Given the description of an element on the screen output the (x, y) to click on. 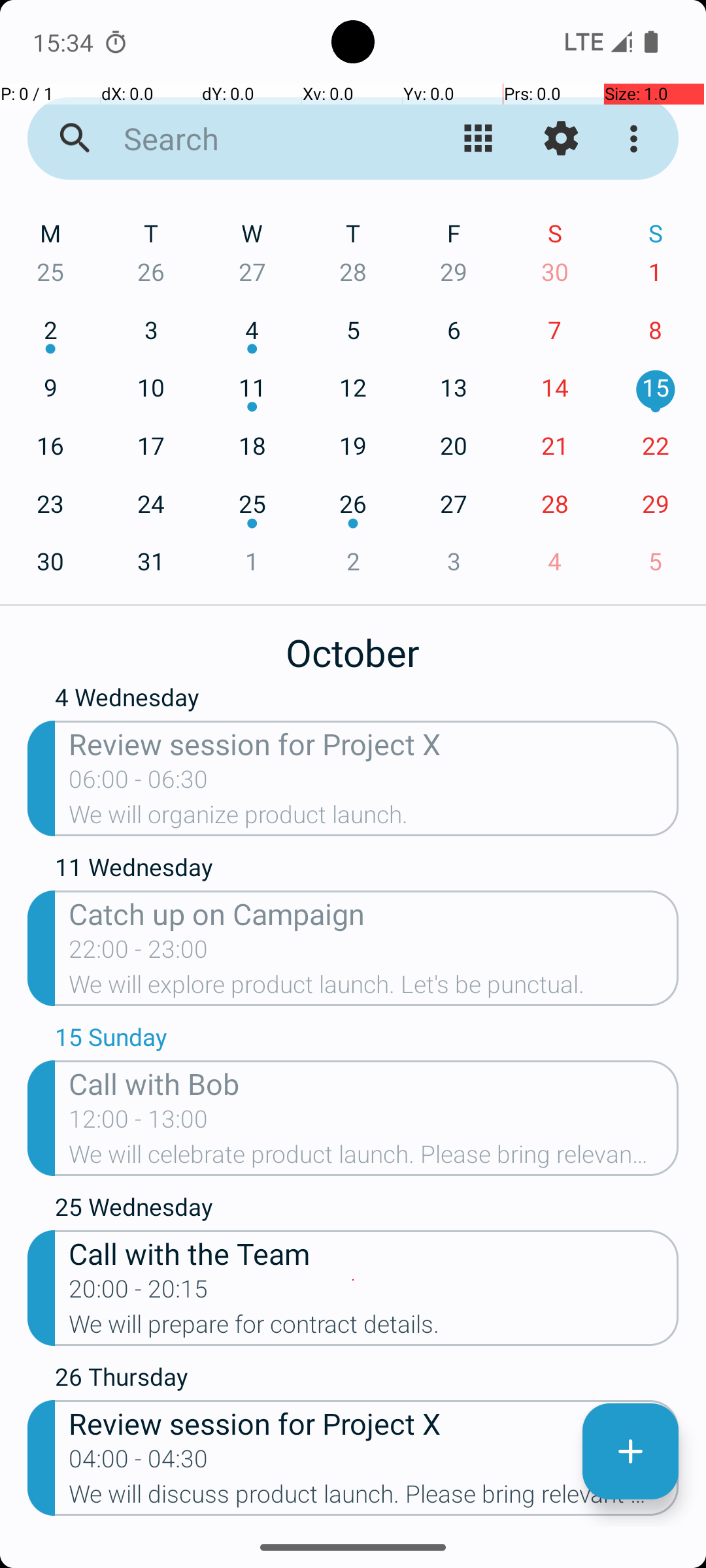
4 Wednesday Element type: android.widget.TextView (366, 702)
11 Wednesday Element type: android.widget.TextView (366, 869)
15 Sunday Element type: android.widget.TextView (366, 1039)
25 Wednesday Element type: android.widget.TextView (366, 1209)
26 Thursday Element type: android.widget.TextView (366, 1379)
Review session for Project X Element type: android.widget.TextView (373, 742)
06:00 - 06:30 Element type: android.widget.TextView (137, 782)
We will organize product launch. Element type: android.widget.TextView (373, 818)
Catch up on Campaign Element type: android.widget.TextView (373, 912)
22:00 - 23:00 Element type: android.widget.TextView (137, 952)
We will explore product launch. Let's be punctual. Element type: android.widget.TextView (373, 988)
Call with Bob Element type: android.widget.TextView (373, 1082)
12:00 - 13:00 Element type: android.widget.TextView (137, 1122)
We will celebrate product launch. Please bring relevant documents. Element type: android.widget.TextView (373, 1158)
Call with the Team Element type: android.widget.TextView (373, 1252)
20:00 - 20:15 Element type: android.widget.TextView (137, 1292)
We will prepare for contract details. Element type: android.widget.TextView (373, 1327)
04:00 - 04:30 Element type: android.widget.TextView (137, 1462)
We will discuss product launch. Please bring relevant documents. Element type: android.widget.TextView (373, 1497)
